Given the description of an element on the screen output the (x, y) to click on. 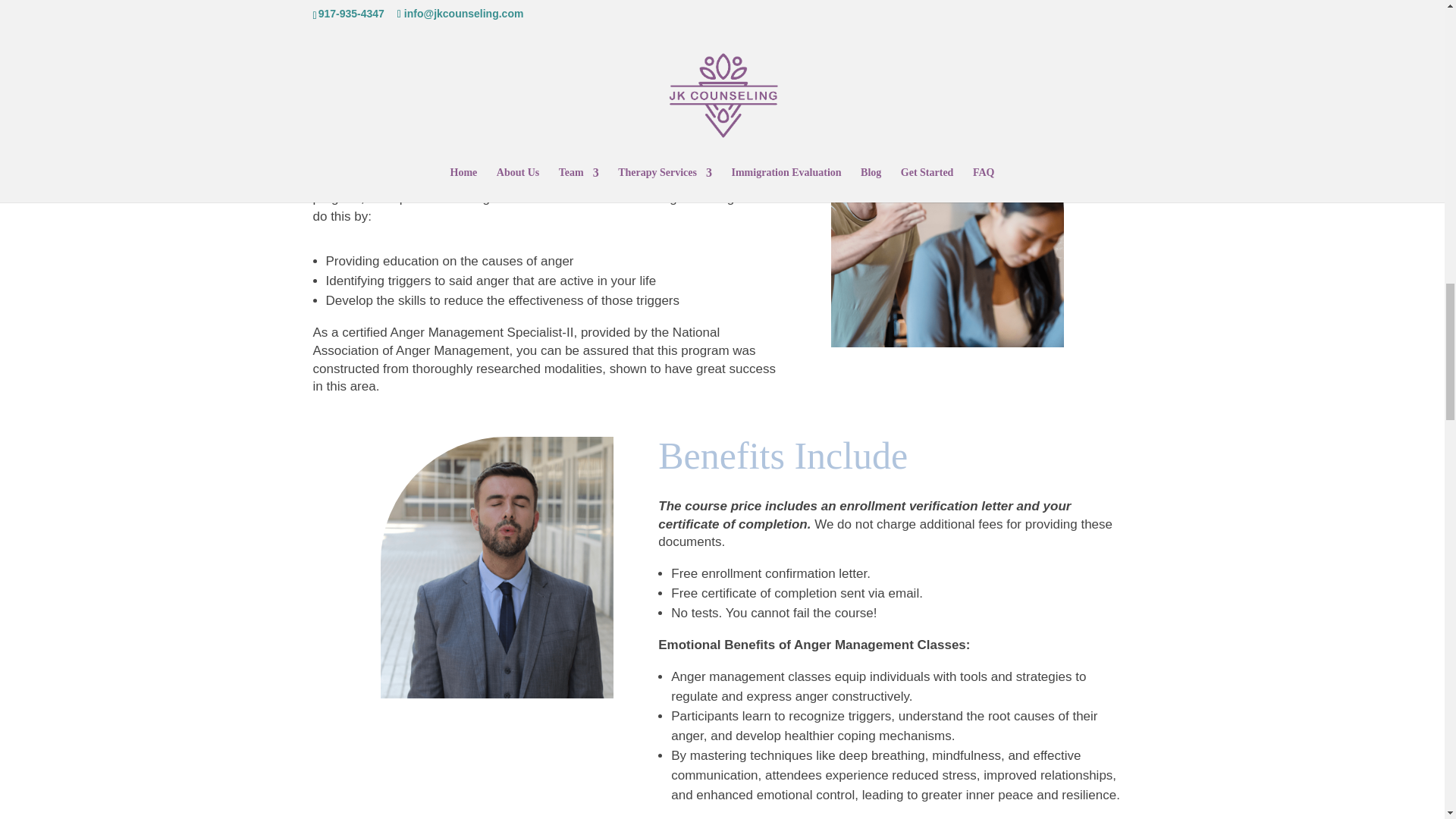
Untitled design - 2024-01-16T122353.646 (496, 22)
Untitled design - 2024-01-16T122422.977 (947, 216)
Untitled design - 2024-01-16T122454.289 (496, 567)
